Given the description of an element on the screen output the (x, y) to click on. 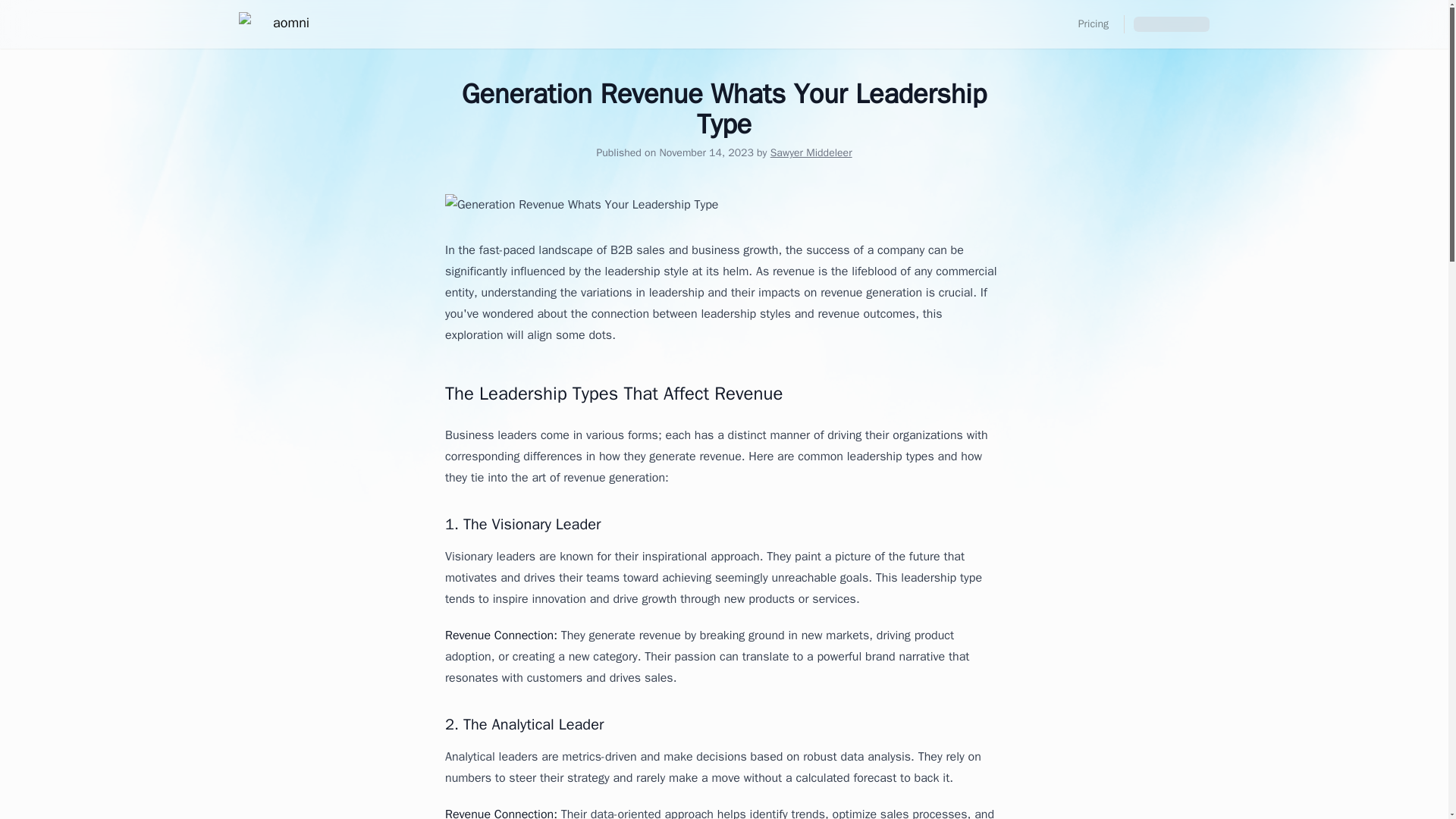
Sawyer Middeleer (810, 152)
aomni (273, 24)
Generation Revenue Whats Your Leadership Type (724, 204)
Pricing (1093, 24)
